Given the description of an element on the screen output the (x, y) to click on. 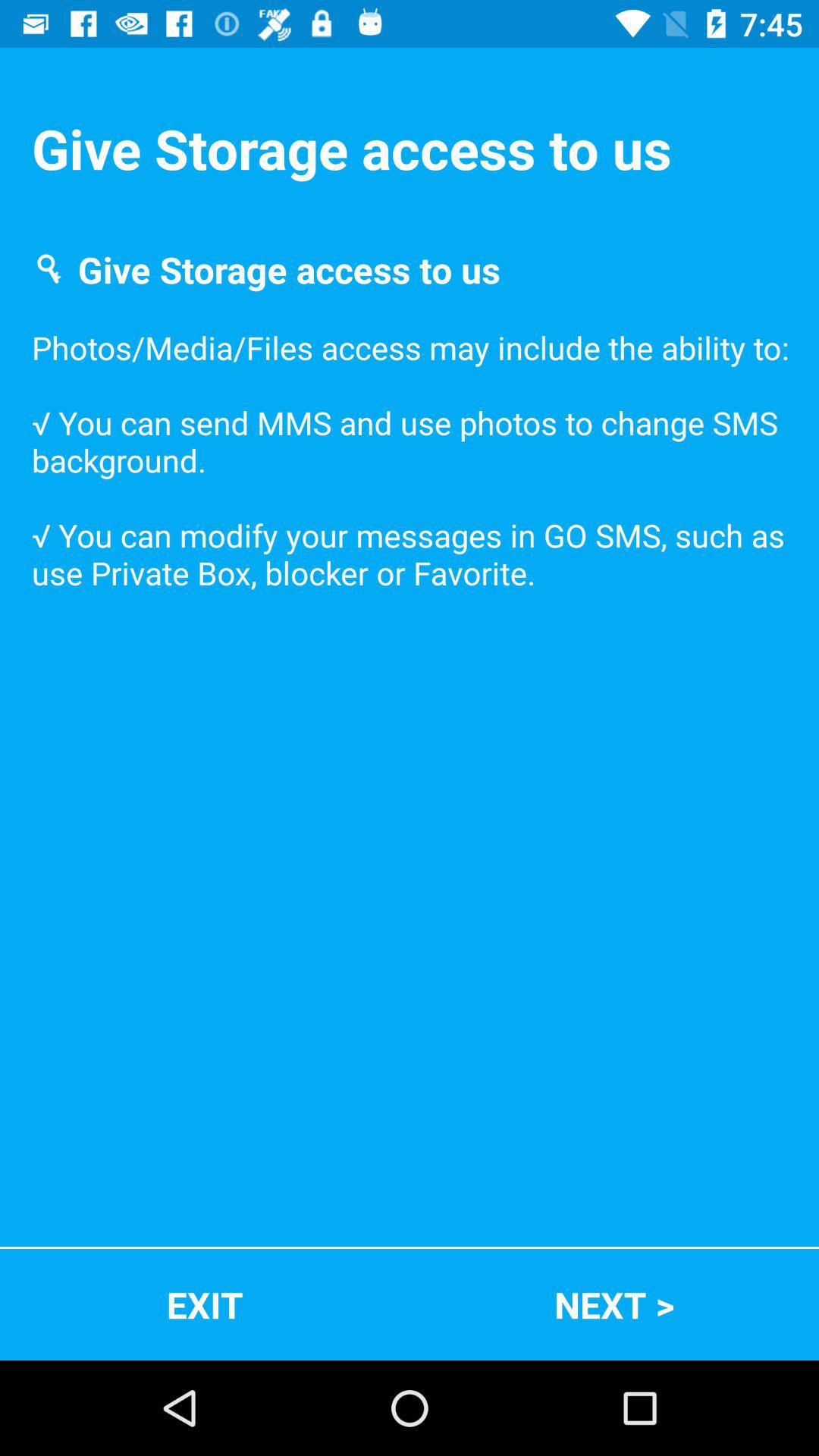
turn on icon at the bottom left corner (204, 1304)
